Given the description of an element on the screen output the (x, y) to click on. 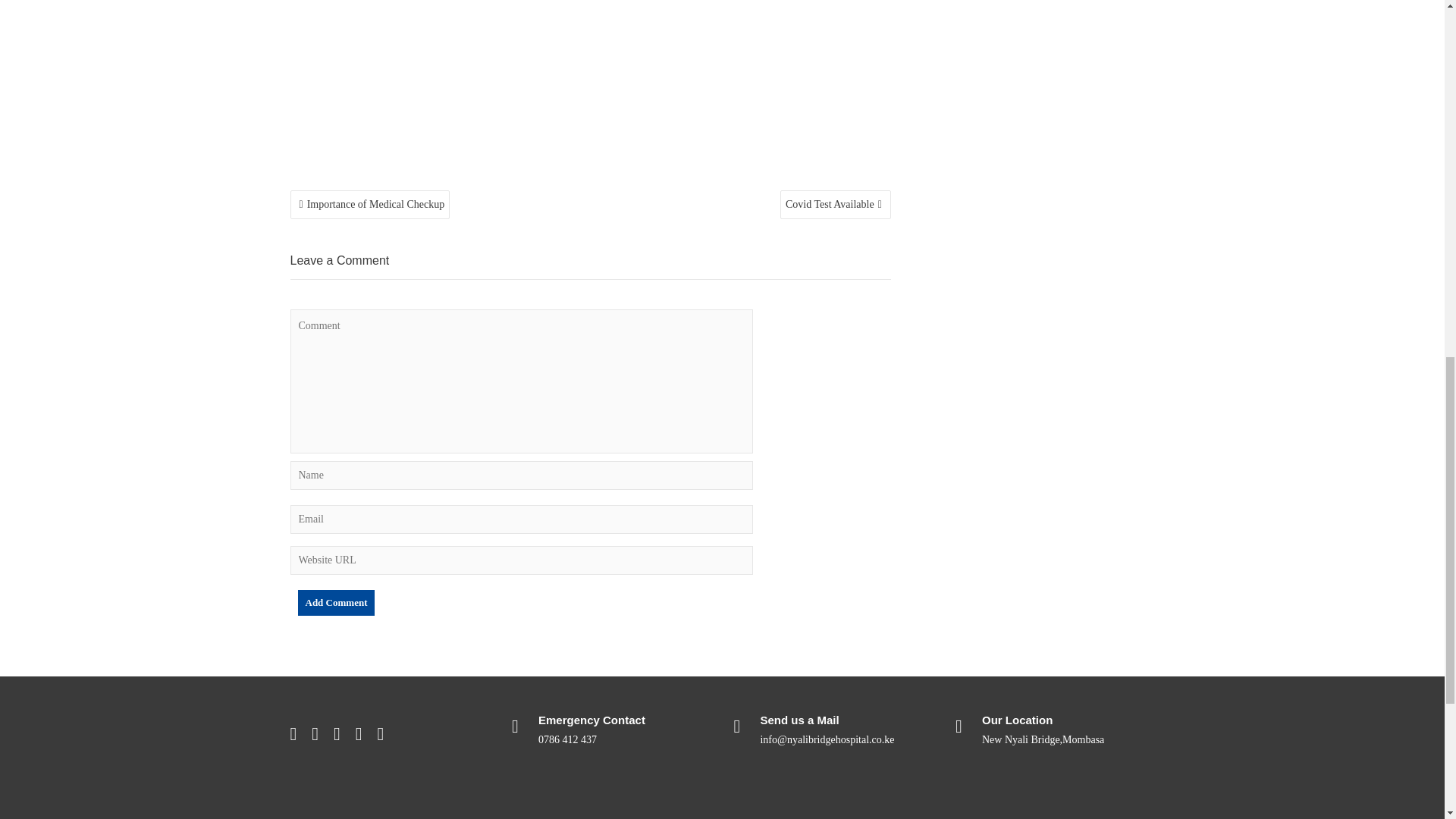
Covid Test Available (835, 204)
Importance of Medical Checkup (369, 204)
Add Comment (335, 602)
Add Comment (335, 602)
